Given the description of an element on the screen output the (x, y) to click on. 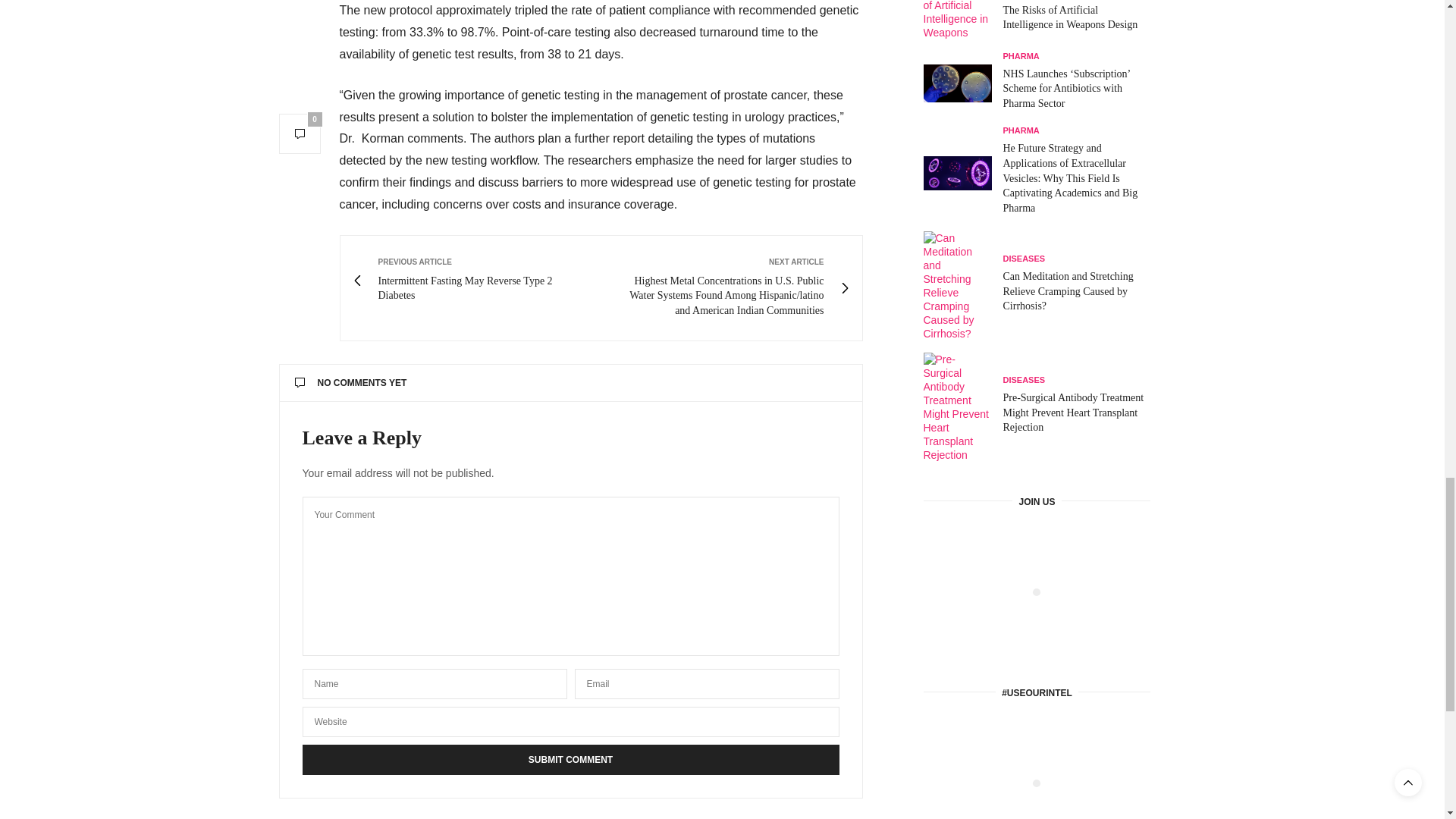
Submit Comment (569, 759)
Submit Comment (569, 759)
NO COMMENTS YET (570, 383)
